Given the description of an element on the screen output the (x, y) to click on. 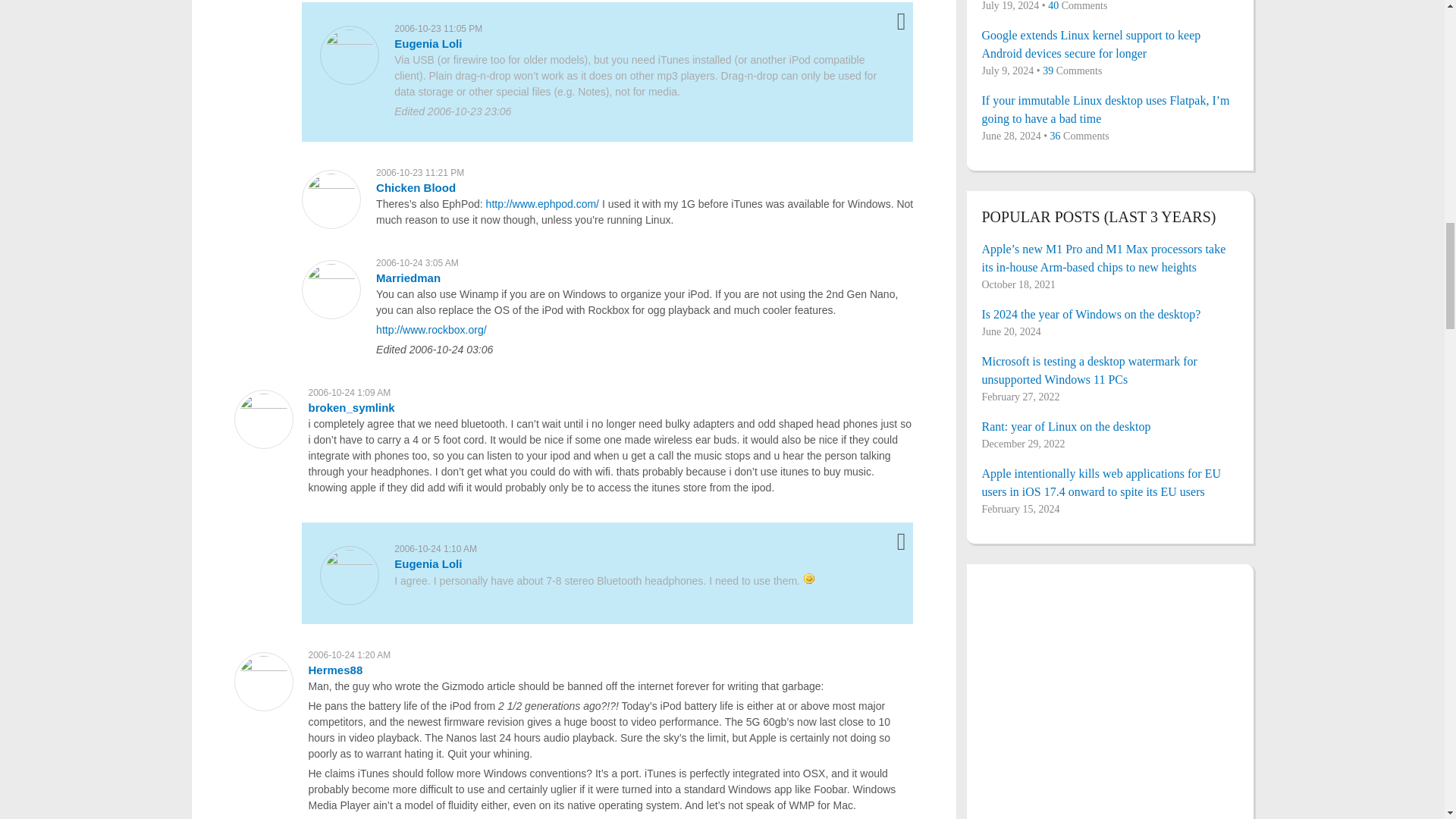
Marriedman (408, 277)
Eugenia Loli (427, 42)
Chicken Blood (415, 187)
